Given the description of an element on the screen output the (x, y) to click on. 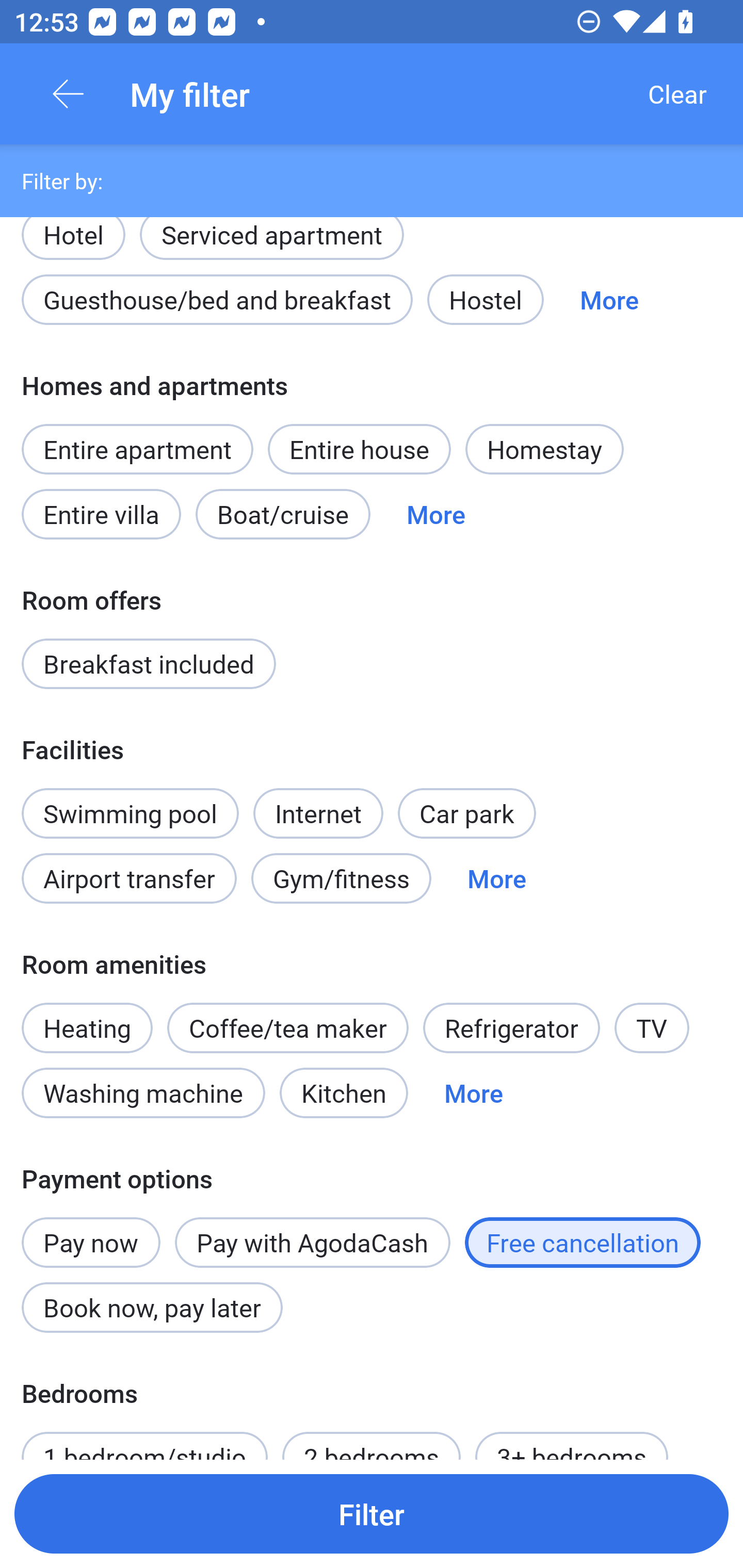
Clear (676, 93)
Hotel (73, 235)
Serviced apartment (271, 235)
Guesthouse/bed and breakfast (217, 299)
Hostel (485, 299)
More (608, 299)
Entire apartment (137, 449)
Entire house (359, 449)
Homestay (544, 449)
Entire villa (101, 514)
Boat/cruise (282, 514)
More (435, 514)
Breakfast included (148, 663)
Swimming pool (130, 812)
Internet (318, 802)
Car park (466, 812)
Airport transfer (129, 878)
Gym/fitness (341, 878)
More (496, 878)
Heating (87, 1016)
Coffee/tea maker (287, 1027)
Refrigerator (511, 1027)
TV (651, 1027)
Washing machine (143, 1092)
Kitchen (343, 1092)
More (473, 1092)
Pay now (90, 1231)
Pay with AgodaCash (312, 1242)
Book now, pay later (152, 1307)
Filter (371, 1513)
